Given the description of an element on the screen output the (x, y) to click on. 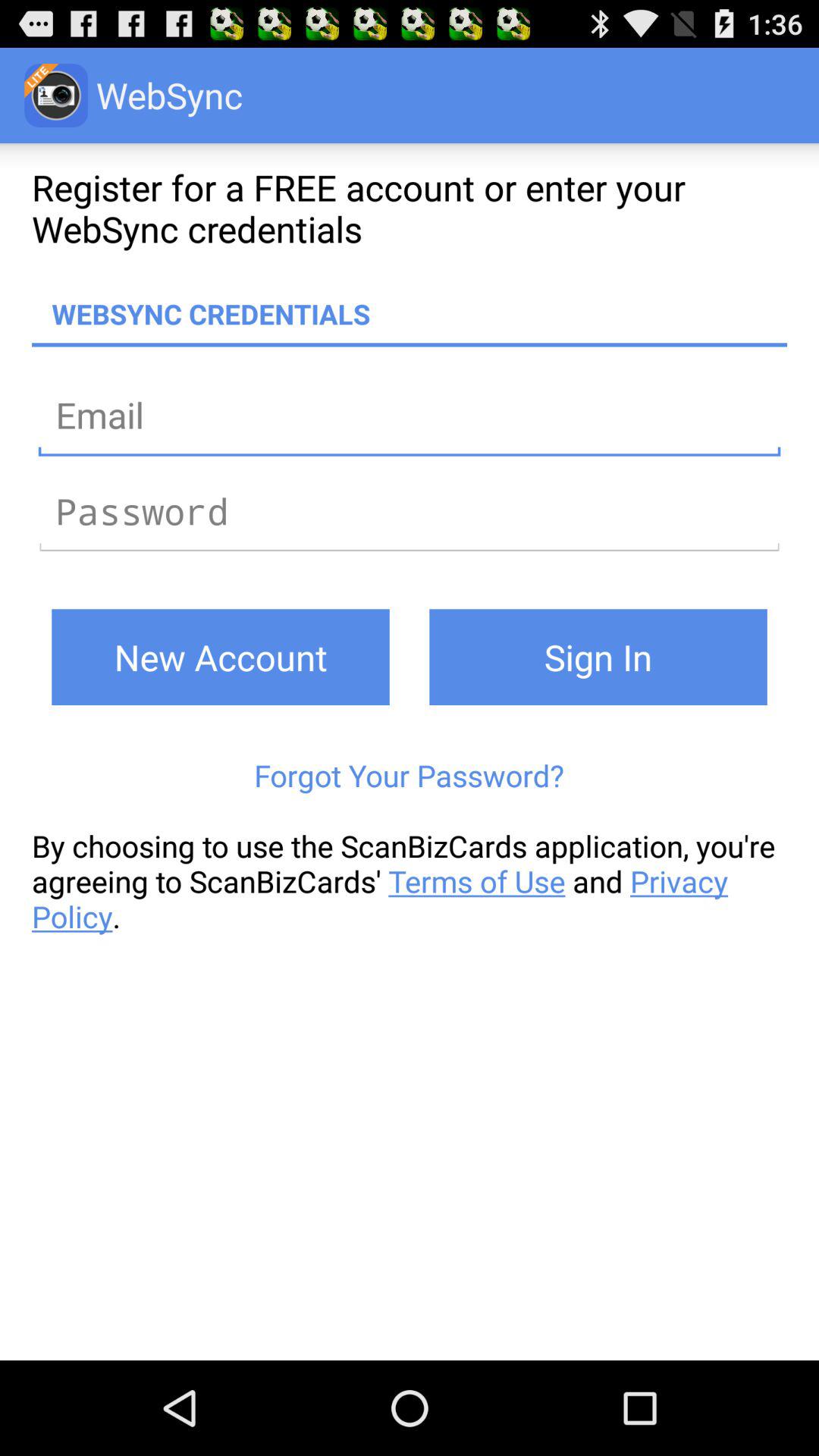
select sign in on the right (598, 657)
